Given the description of an element on the screen output the (x, y) to click on. 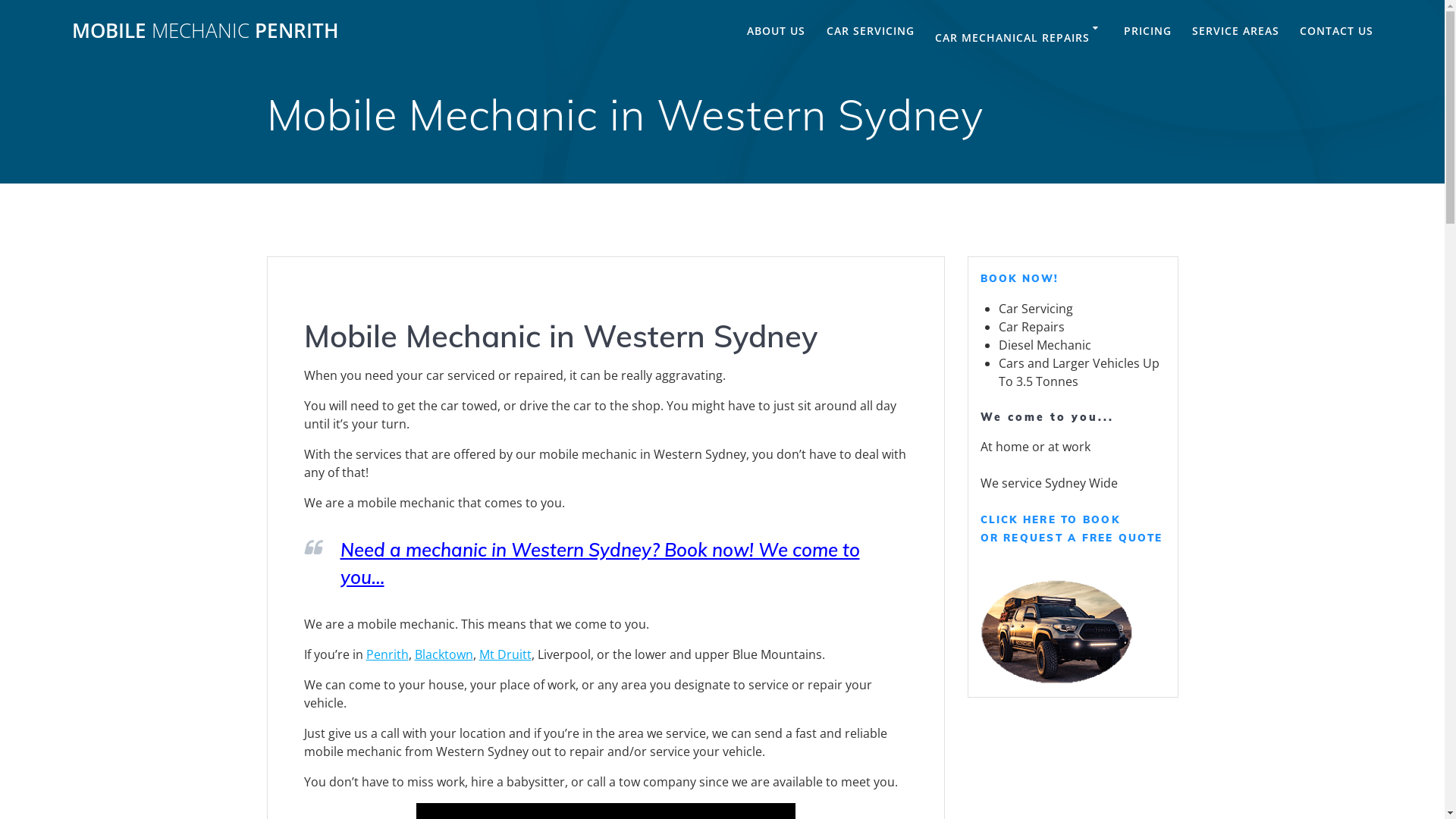
Blacktown Element type: text (443, 654)
Penrith Element type: text (386, 654)
BOOK NOW! Element type: text (1018, 278)
CLICK HERE TO BOOK
OR REQUEST A FREE QUOTE Element type: text (1070, 528)
CAR SERVICING Element type: text (870, 30)
CAR MECHANICAL REPAIRS Element type: text (1019, 38)
PRICING Element type: text (1147, 30)
SERVICE AREAS Element type: text (1235, 30)
ABOUT US Element type: text (775, 30)
MOBILE MECHANIC PENRITH Element type: text (205, 30)
CONTACT US Element type: text (1336, 30)
Mt Druitt Element type: text (505, 654)
